Given the description of an element on the screen output the (x, y) to click on. 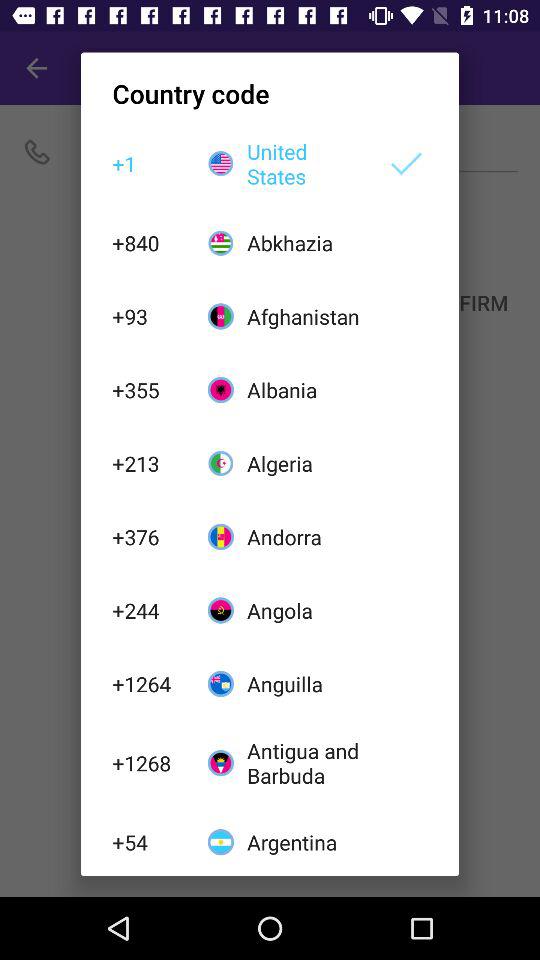
tap the icon below country code item (305, 163)
